Given the description of an element on the screen output the (x, y) to click on. 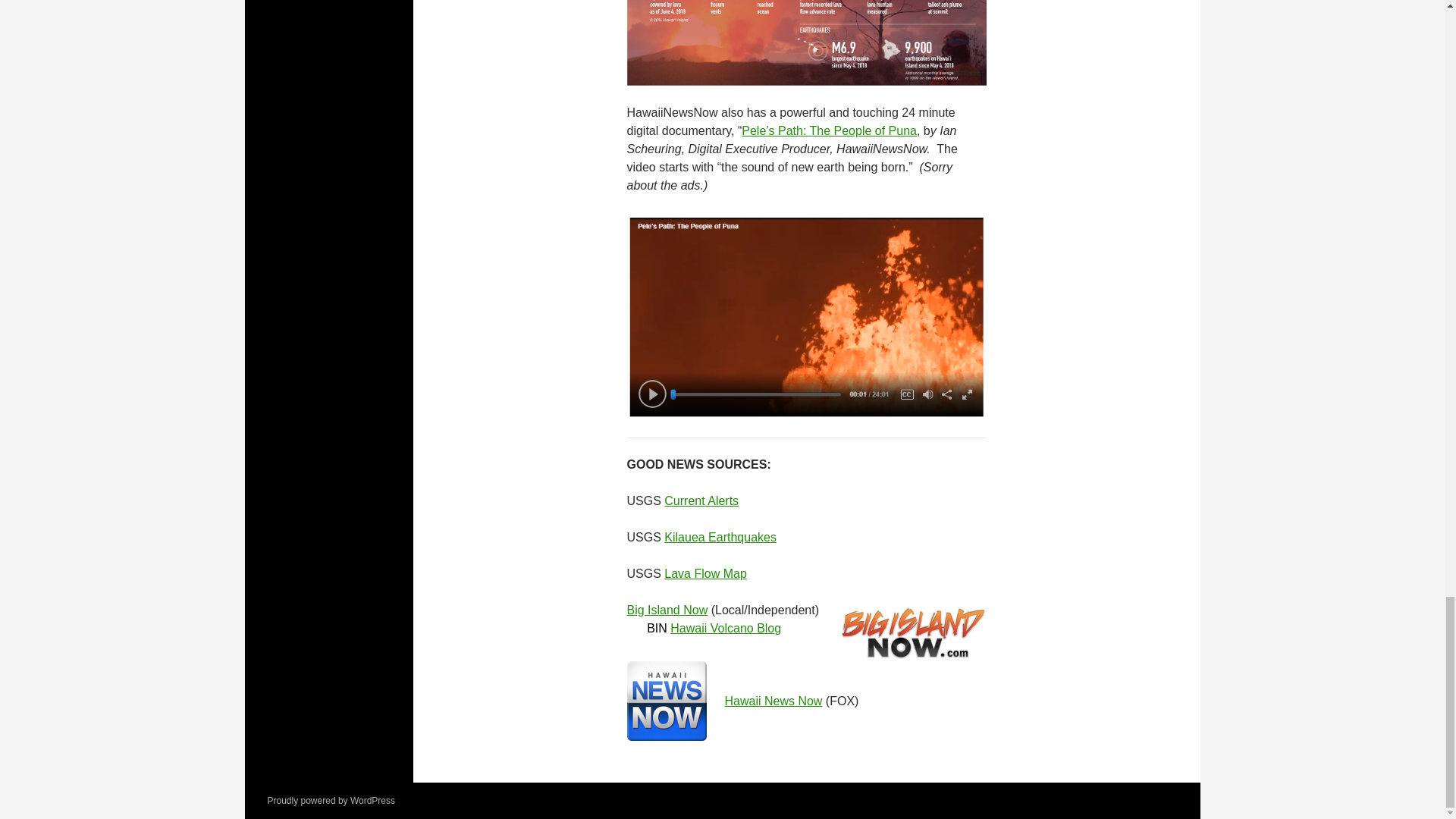
Hawaii Volcano Blog (724, 627)
Hawaii News Now (773, 700)
Current Alerts (700, 500)
Lava Flow Map (704, 573)
Kilauea Earthquakes (719, 536)
Big Island Now (666, 609)
